Given the description of an element on the screen output the (x, y) to click on. 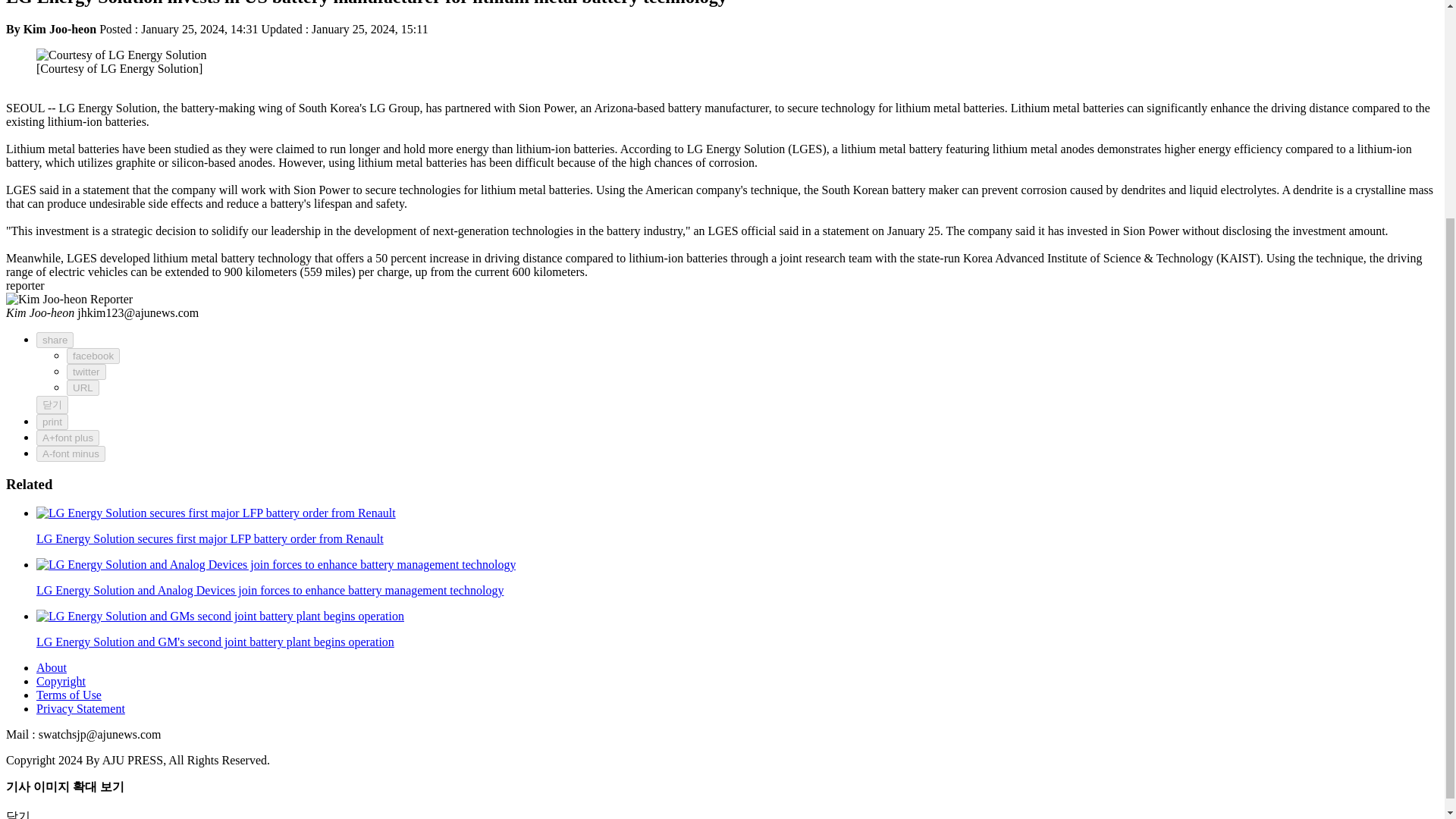
facebook (92, 355)
URL (82, 387)
Terms of Use (68, 694)
Copyright (60, 680)
Privacy Statement (80, 707)
print (52, 421)
About (51, 667)
share (55, 340)
A-font minus (70, 453)
twitter (86, 371)
